Given the description of an element on the screen output the (x, y) to click on. 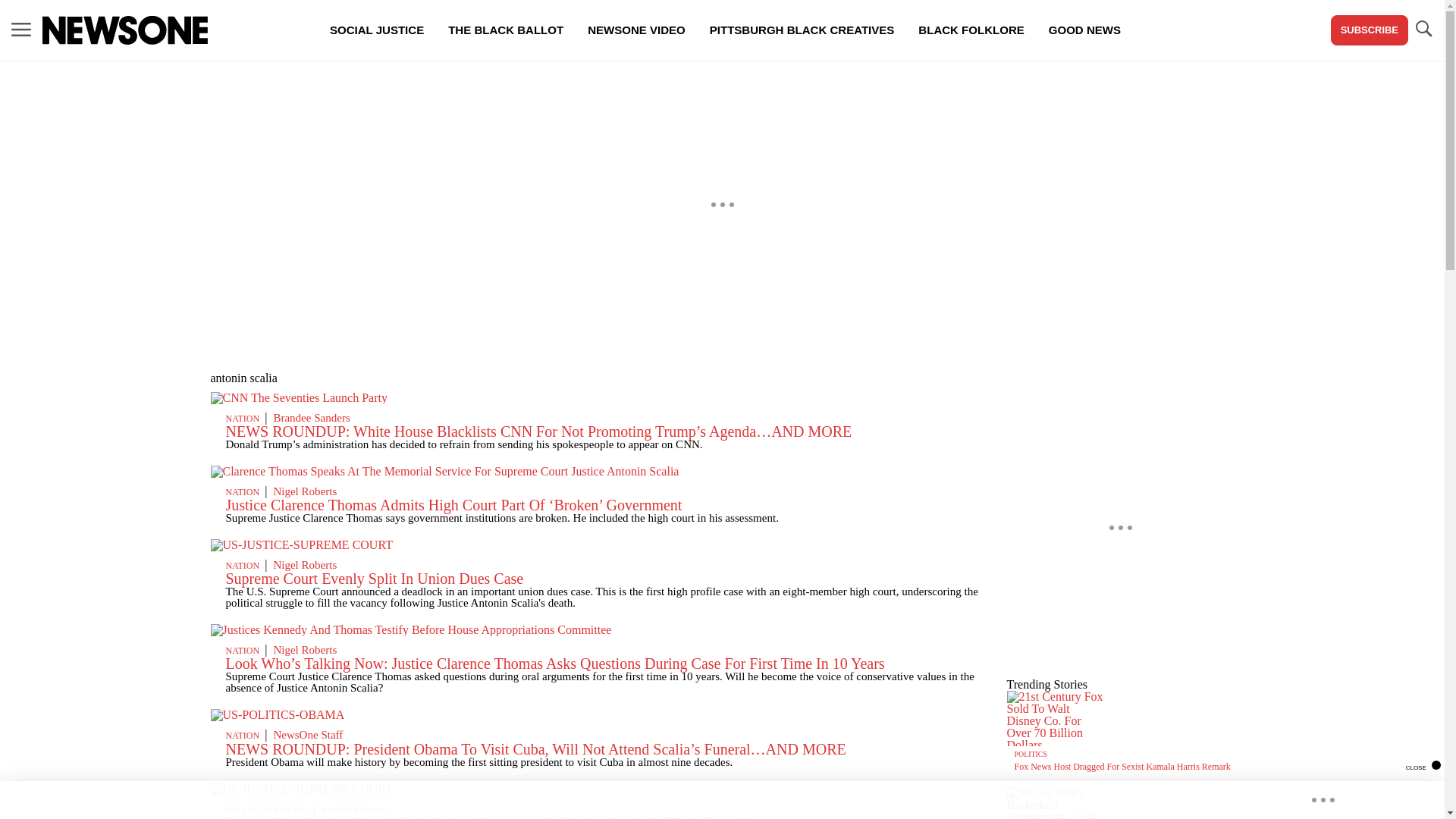
NATION (242, 418)
Nigel Roberts (304, 491)
TOGGLE SEARCH (1422, 30)
NATION (242, 650)
Nigel Roberts (304, 649)
TOGGLE SEARCH (1422, 28)
Nigel Roberts (304, 564)
Supreme Court Evenly Split In Union Dues Case (374, 578)
ionelholloway (354, 808)
NATION (242, 565)
